Given the description of an element on the screen output the (x, y) to click on. 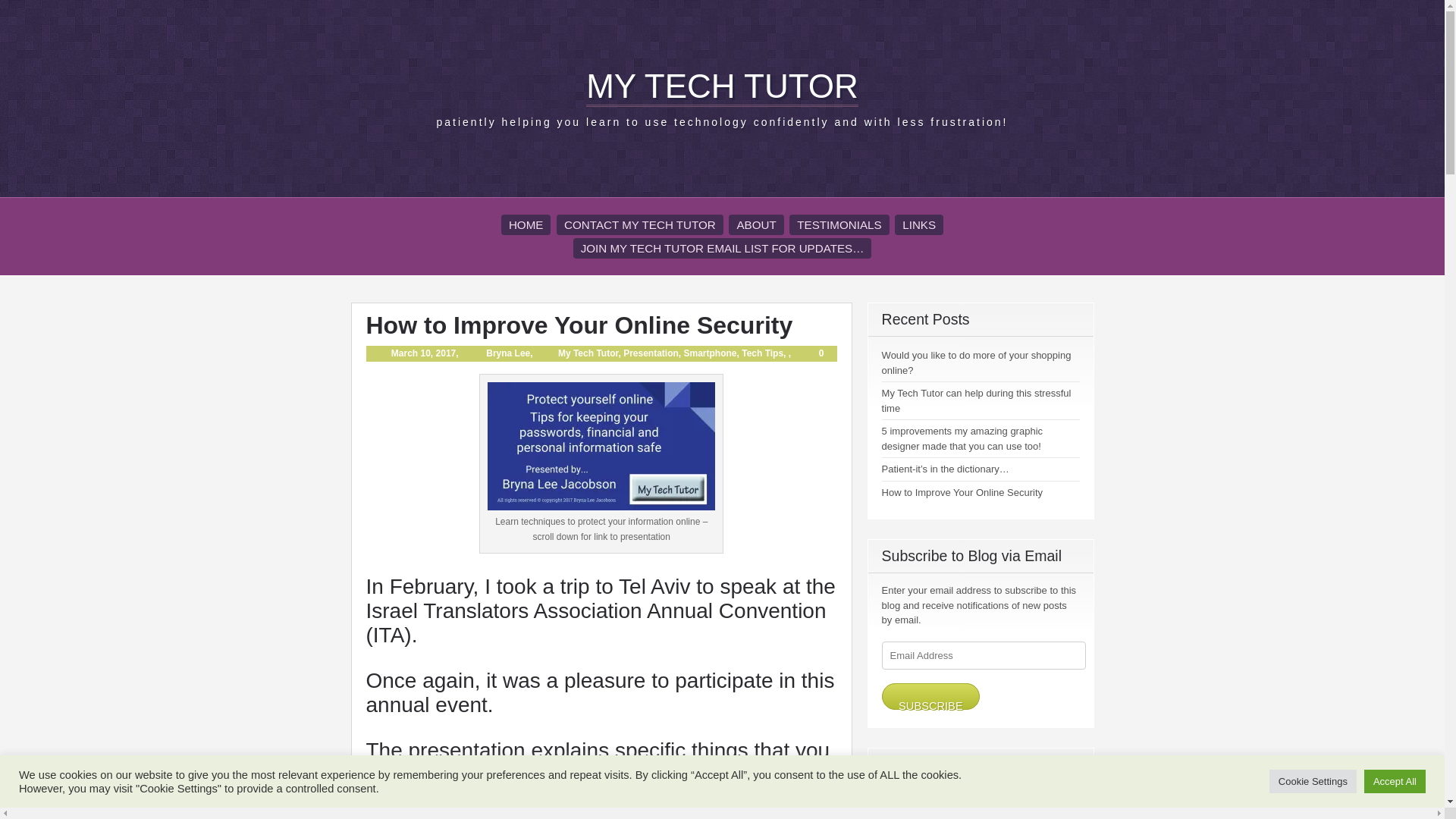
0 (808, 353)
TESTIMONIALS (838, 224)
MY TECH TUTOR (722, 87)
Presentation (650, 353)
My Tech Tutor (587, 353)
Tech Tips (762, 353)
HOME (525, 224)
Smartphone (710, 353)
ABOUT (756, 224)
ITA (388, 635)
